Given the description of an element on the screen output the (x, y) to click on. 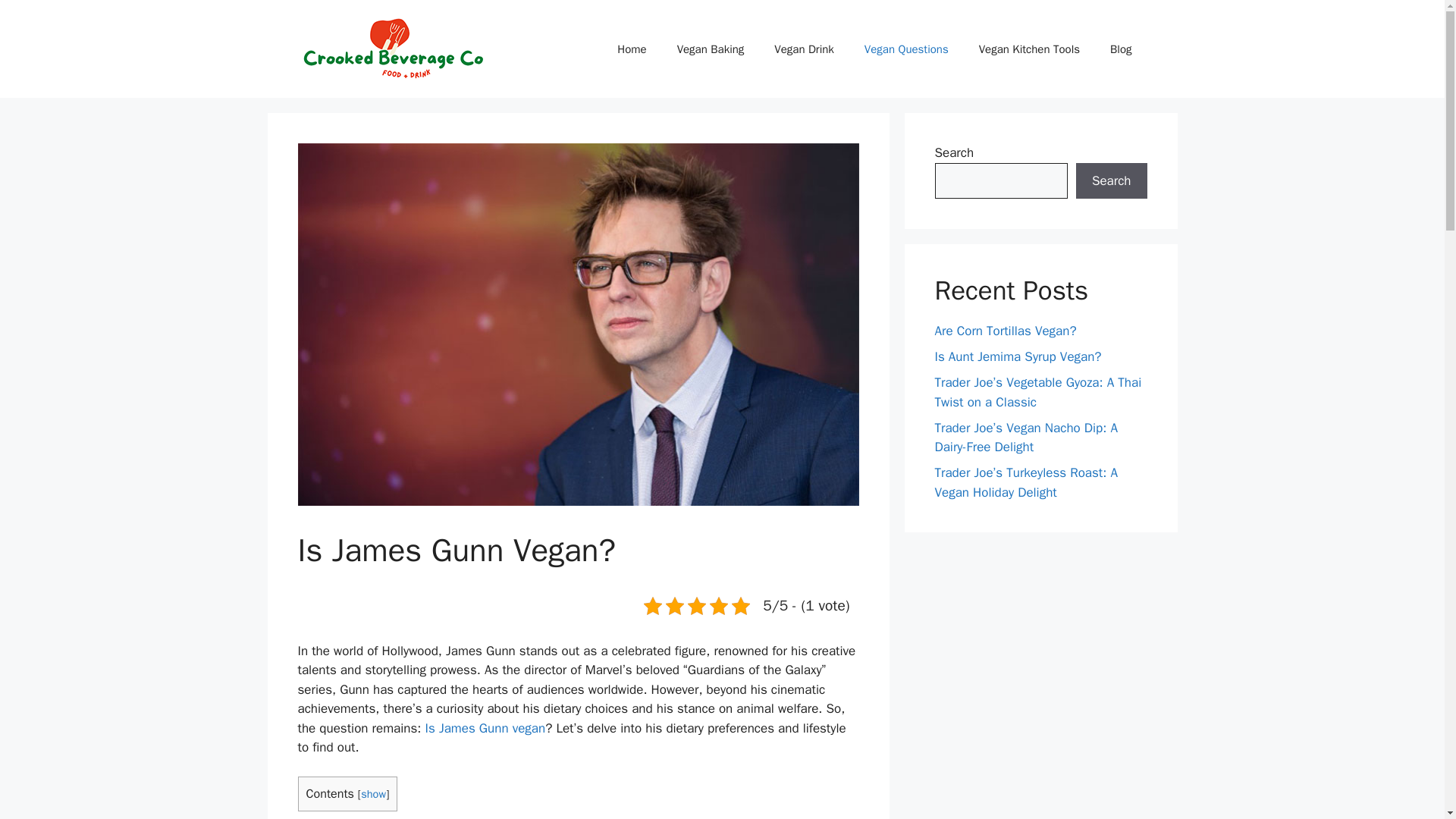
Is James Gunn vegan (485, 728)
Is Aunt Jemima Syrup Vegan? (1017, 356)
Vegan Baking (711, 48)
Vegan Questions (905, 48)
Blog (1120, 48)
show (373, 793)
Vegan Drink (803, 48)
Are Corn Tortillas Vegan? (1004, 330)
Vegan Kitchen Tools (1028, 48)
Search (1111, 180)
